Given the description of an element on the screen output the (x, y) to click on. 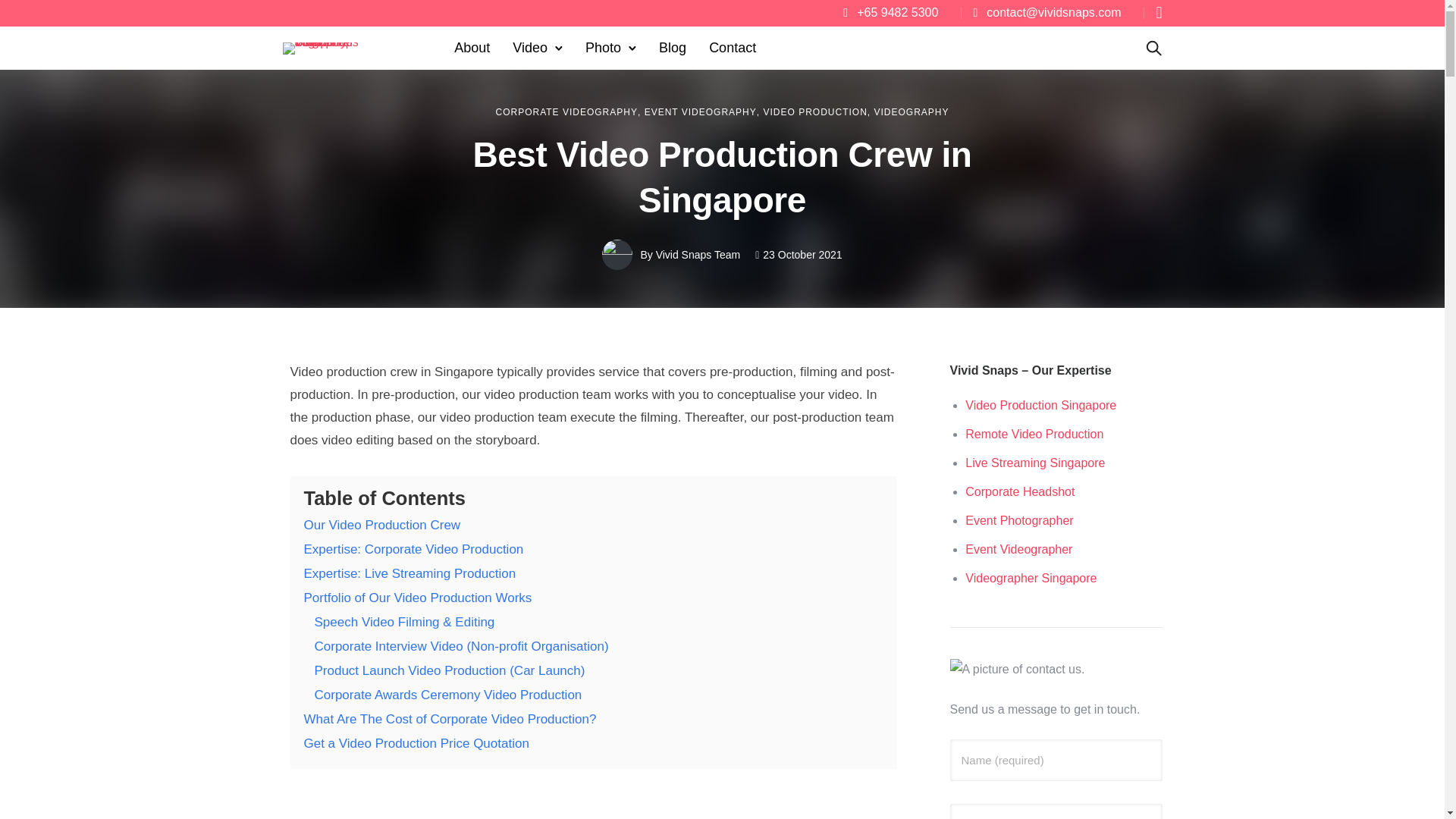
Contact (731, 47)
Contact (731, 47)
CORPORATE VIDEOGRAPHY (566, 112)
Video (529, 47)
EVENT VIDEOGRAPHY (701, 112)
Photo (603, 47)
Blog (672, 47)
VIDEO PRODUCTION (814, 112)
Photo (603, 47)
About (471, 47)
